Given the description of an element on the screen output the (x, y) to click on. 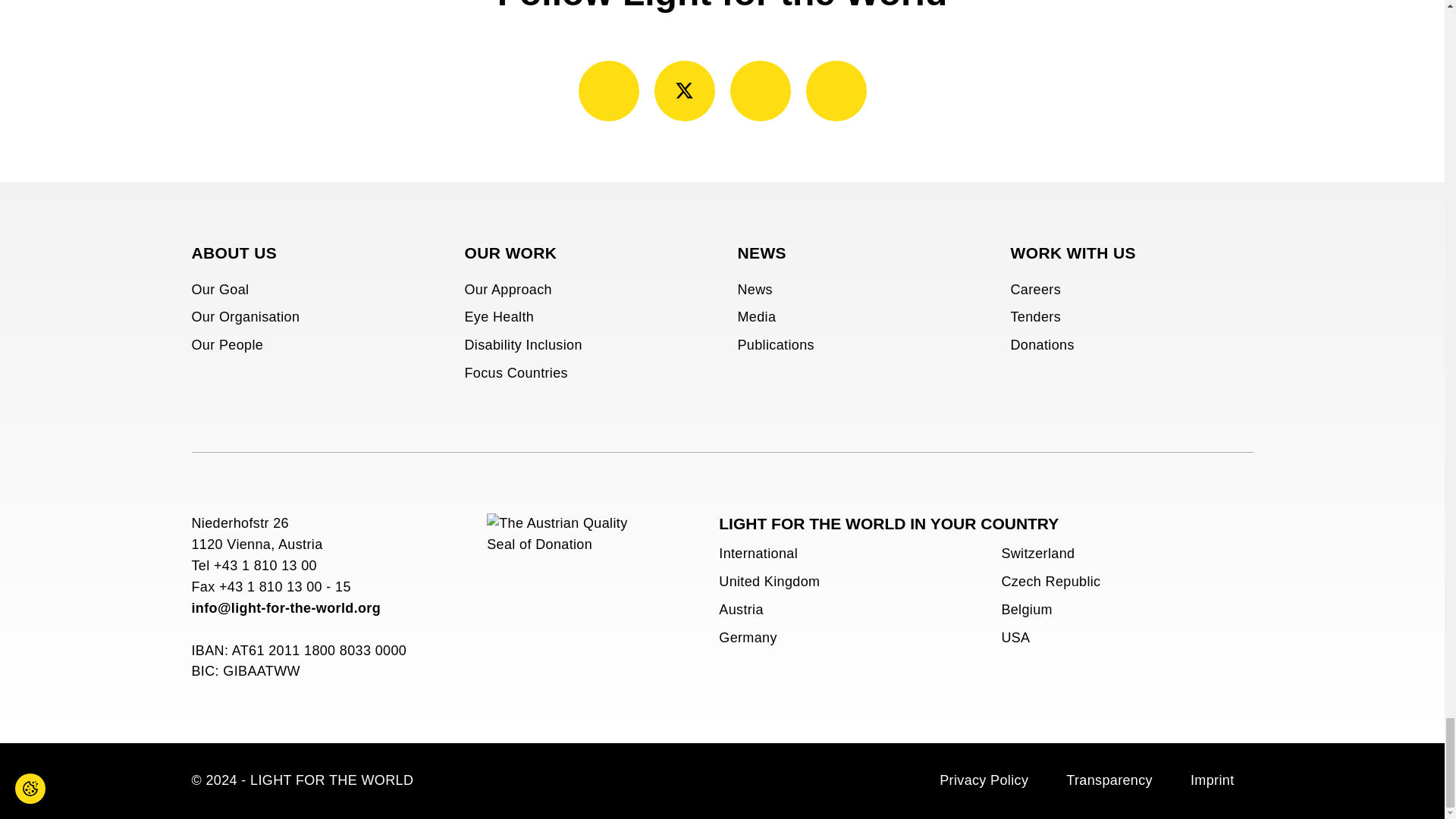
show linkedin profile (835, 90)
show facebook profile (608, 90)
show twitter profile (683, 90)
show youtube profile (759, 90)
more information (562, 589)
